Given the description of an element on the screen output the (x, y) to click on. 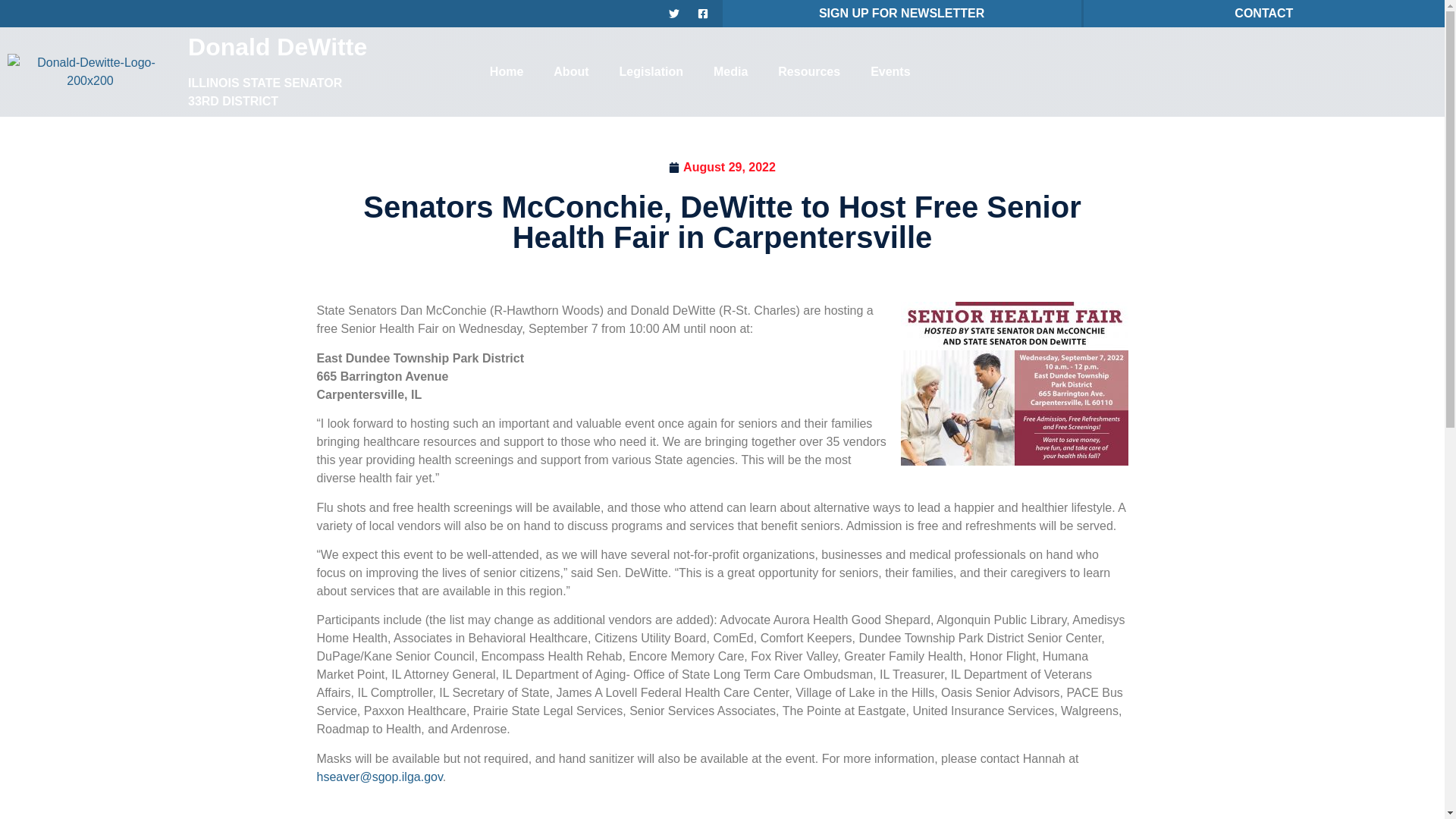
SIGN UP FOR NEWSLETTER (901, 12)
About (571, 71)
Home (506, 71)
Legislation (650, 71)
Media (730, 71)
Donald DeWitte (276, 46)
Events (890, 71)
CONTACT (1263, 12)
Resources (809, 71)
